Given the description of an element on the screen output the (x, y) to click on. 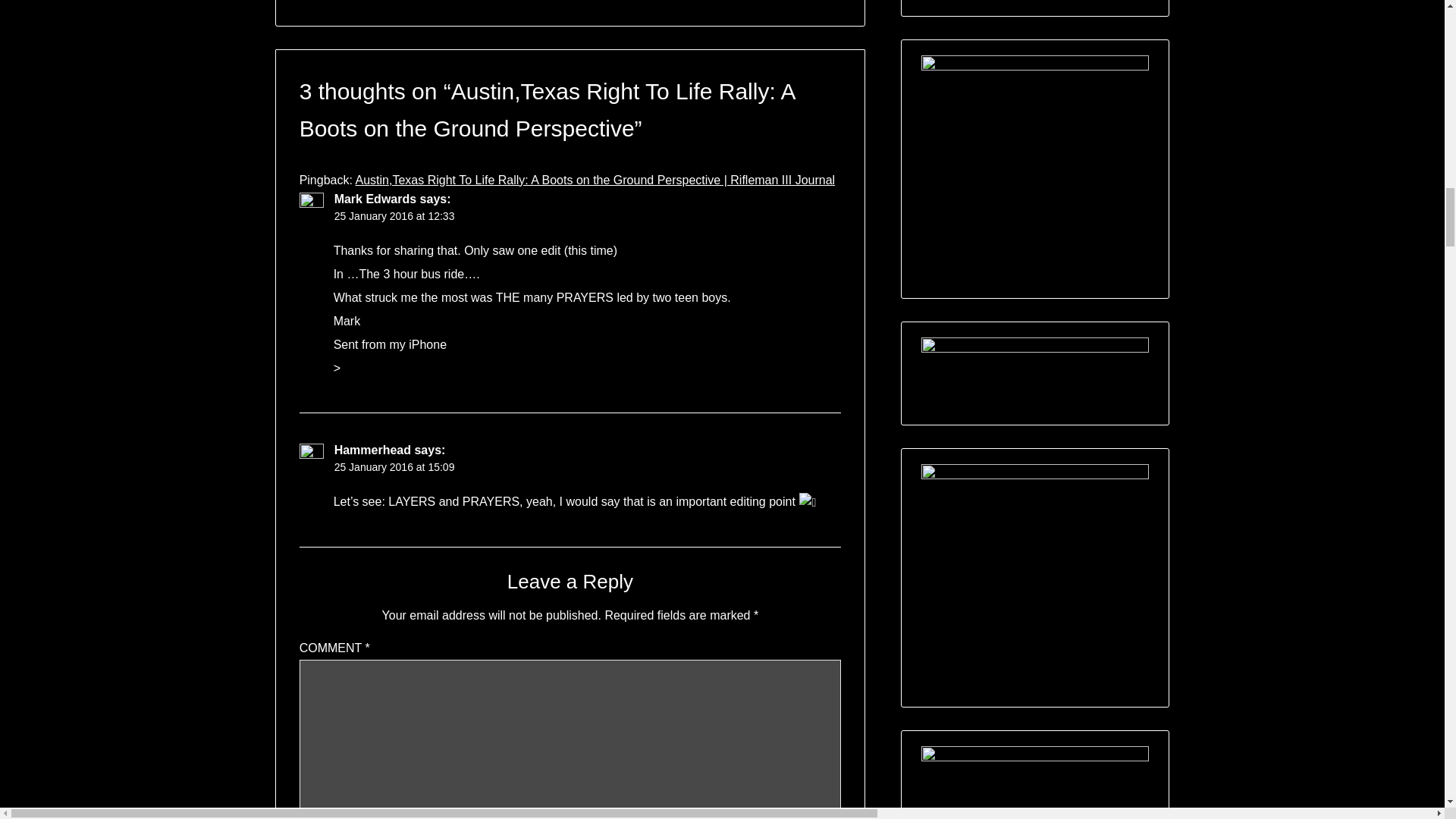
Hammerhead (372, 449)
Got Training? Get it Today from the Best in the Business! (1034, 373)
American Partisan Online Magazine (1034, 168)
25 January 2016 at 15:09 (394, 467)
Western Rifle Shooters Association (1034, 772)
25 January 2016 at 12:33 (394, 215)
Radio Contra Sons of Liberty Podcast (1034, 577)
